Given the description of an element on the screen output the (x, y) to click on. 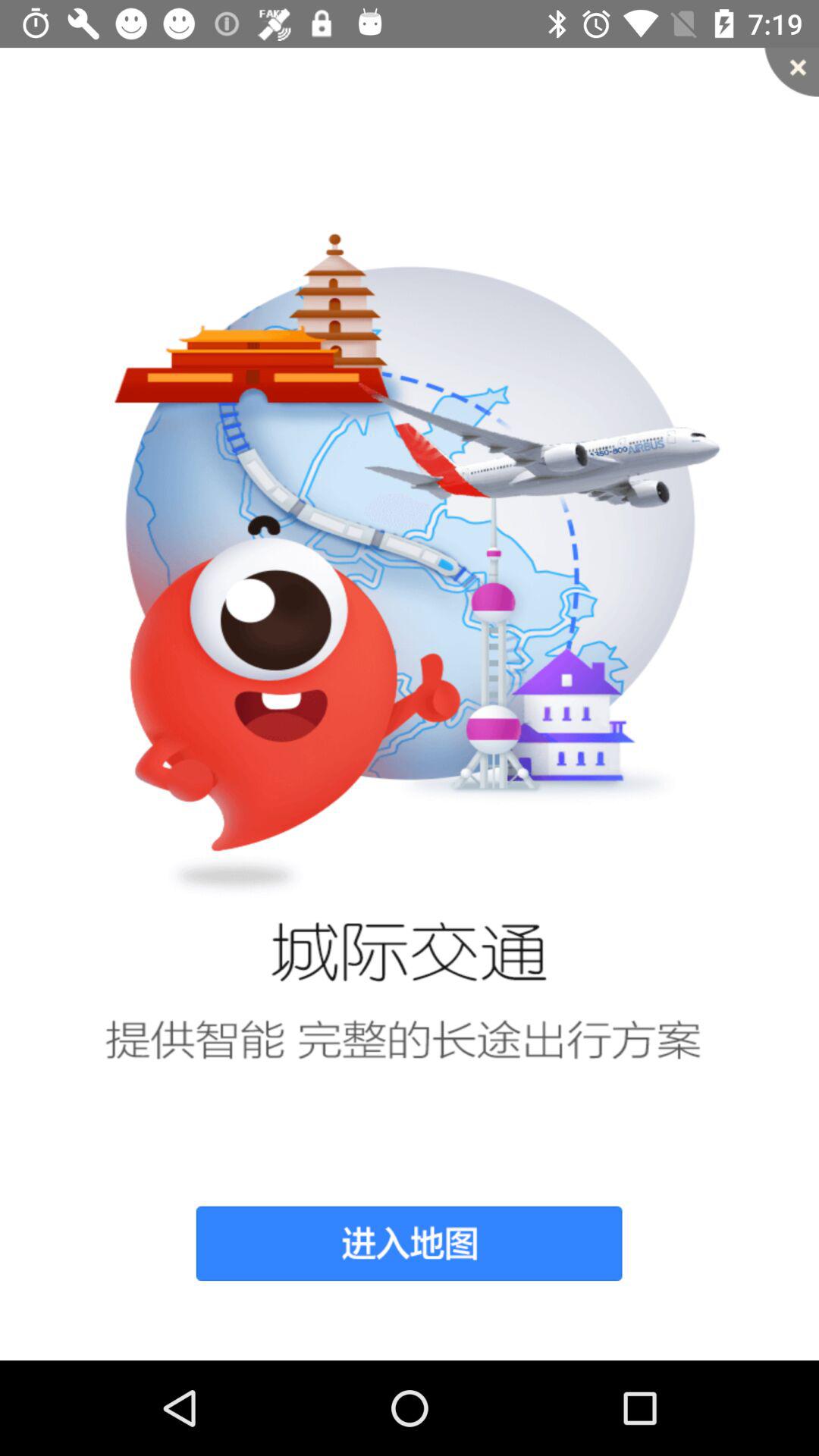
tap item at the center (409, 703)
